Given the description of an element on the screen output the (x, y) to click on. 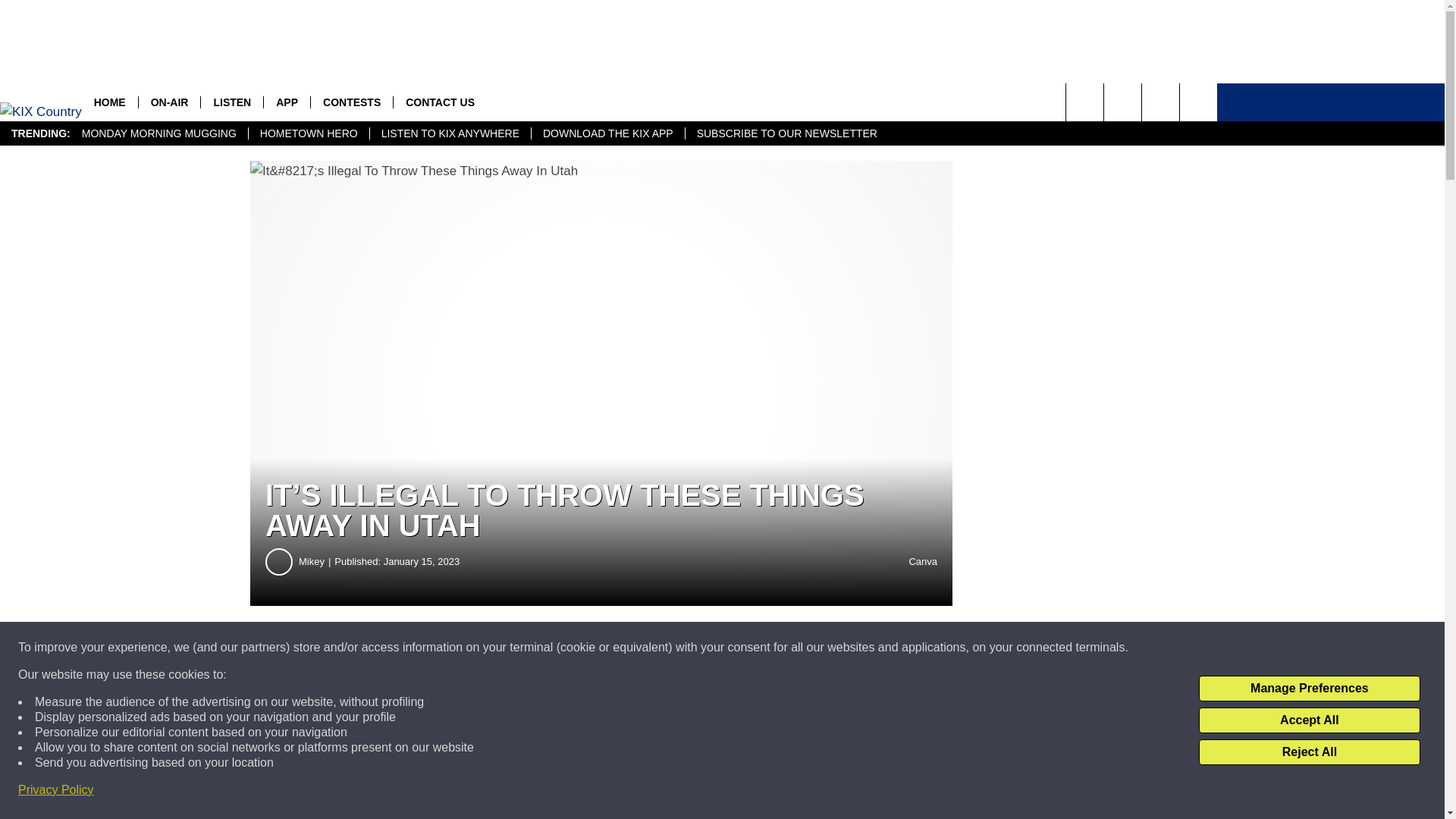
HOMETOWN HERO (308, 133)
SUBSCRIBE TO OUR NEWSLETTER (786, 133)
Share on Facebook (460, 647)
CONTESTS (351, 102)
Share on Twitter (741, 647)
ON-AIR (169, 102)
Privacy Policy (55, 789)
DOWNLOAD THE KIX APP (607, 133)
MONDAY MORNING MUGGING (158, 133)
Manage Preferences (1309, 688)
HOME (109, 102)
APP (286, 102)
LISTEN (231, 102)
Accept All (1309, 720)
LISTEN TO KIX ANYWHERE (450, 133)
